Given the description of an element on the screen output the (x, y) to click on. 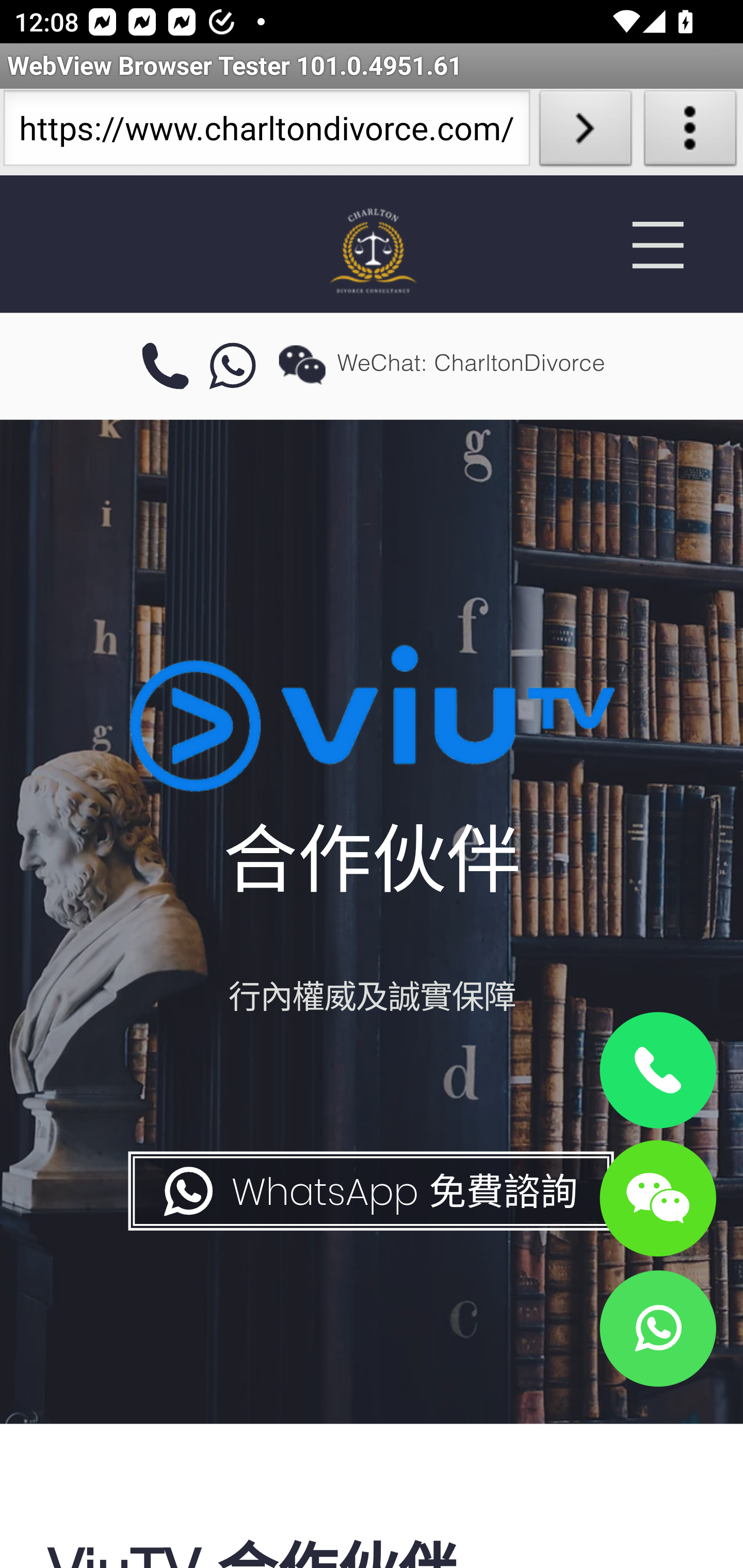
Load URL (585, 132)
About WebView (690, 132)
Open navigation menu (657, 245)
500x500 沒背景.png (371, 249)
tel:+852 9692 7577 (164, 366)
o7rumn (232, 366)
wechat2_edited_edited.png (301, 364)
Phone (657, 1070)
WeChat: CharltonDivorce (657, 1196)
WhatsApp 免費諮詢 (369, 1191)
WhatsApp (657, 1327)
